Given the description of an element on the screen output the (x, y) to click on. 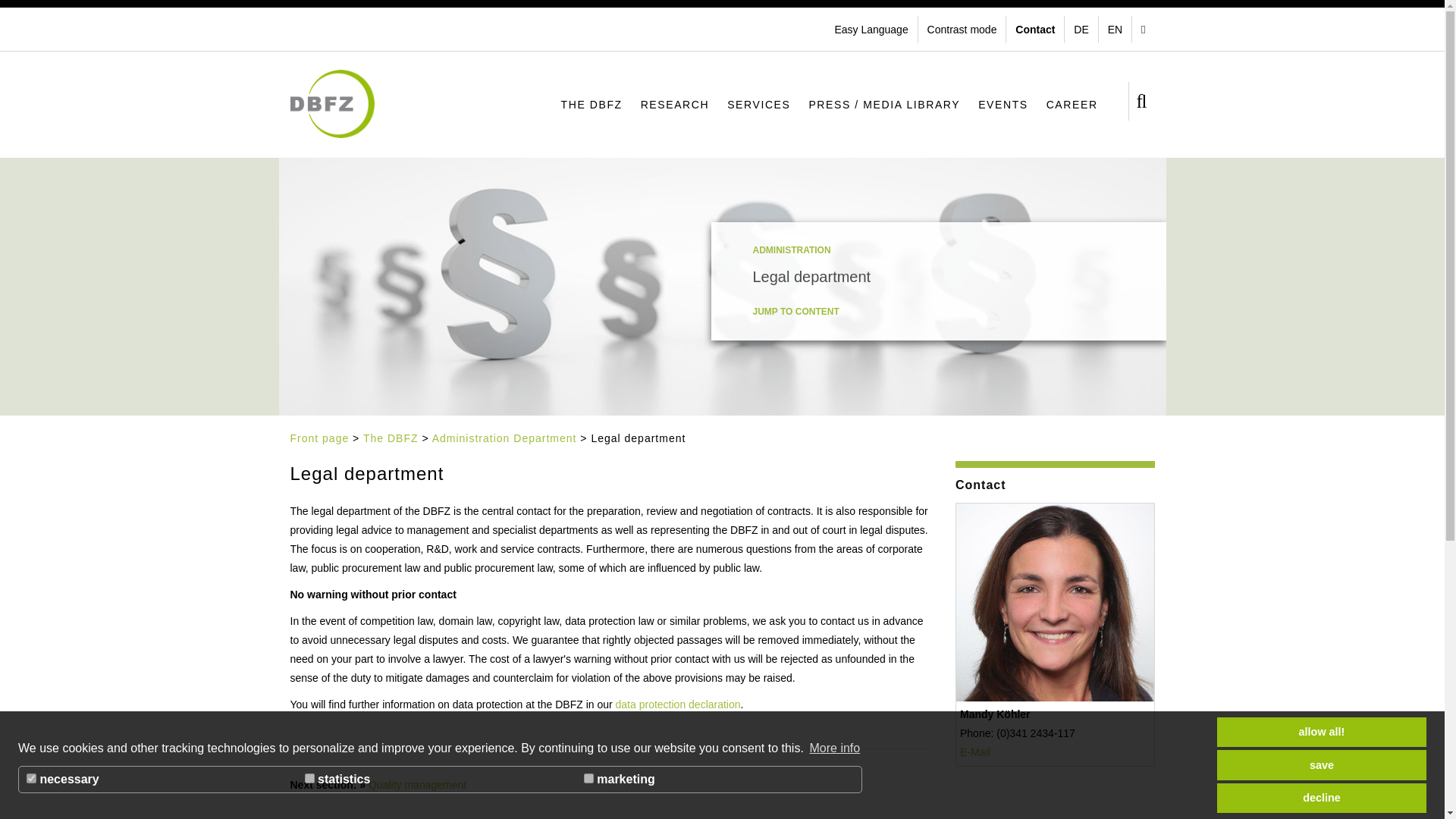
en (1117, 29)
Contrast mode (964, 29)
Contact (1036, 29)
de (1082, 29)
DE (1082, 29)
Contrast mode (964, 29)
EN (1117, 29)
Easy Language (872, 29)
